Given the description of an element on the screen output the (x, y) to click on. 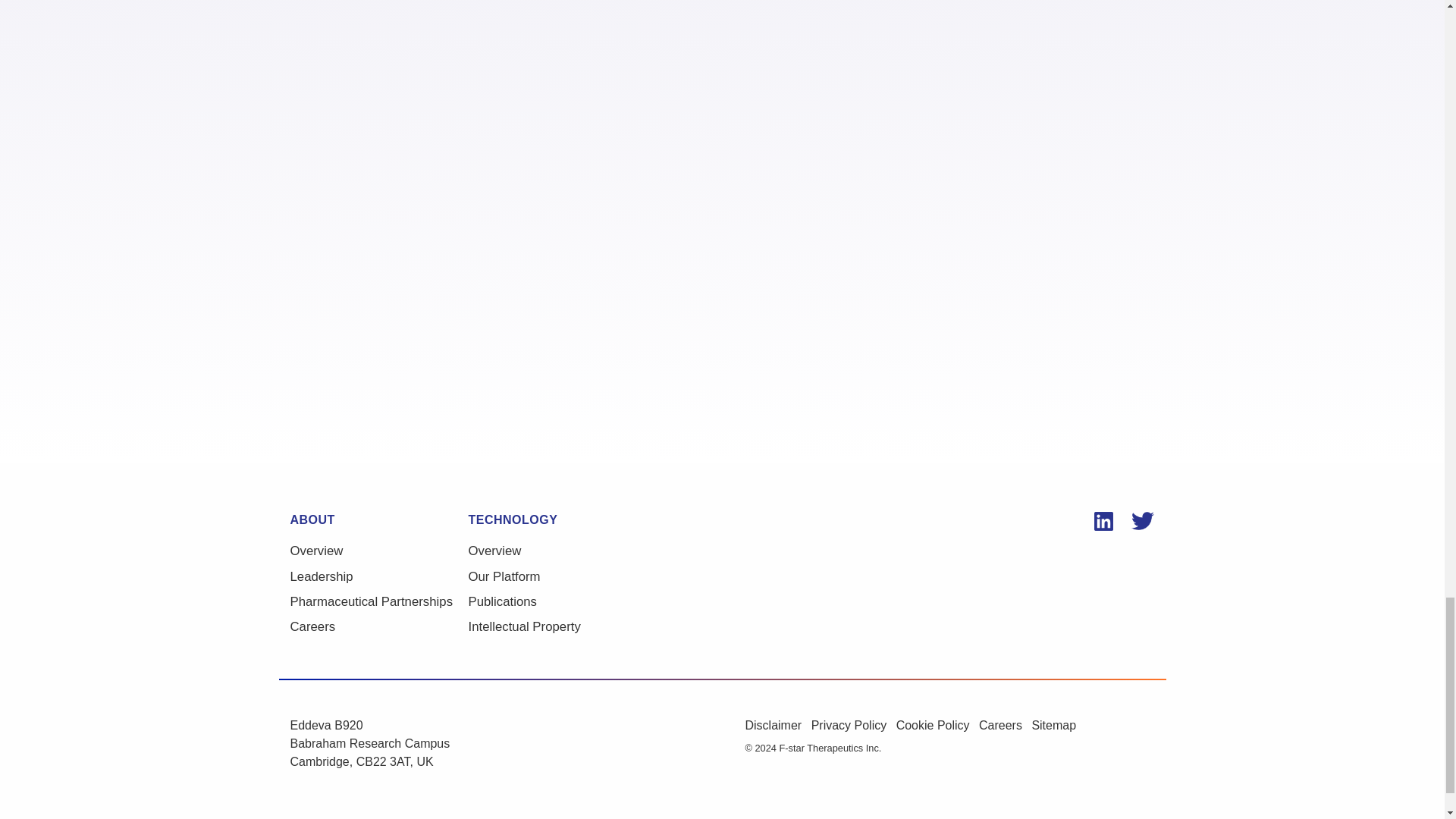
Disclaimer (777, 731)
Pharmaceutical Partnerships (378, 601)
Careers (378, 626)
Privacy Policy (853, 731)
Publications (556, 601)
Overview (556, 550)
Our Platform (556, 576)
Overview (378, 550)
Leadership (378, 576)
Intellectual Property (556, 626)
